Given the description of an element on the screen output the (x, y) to click on. 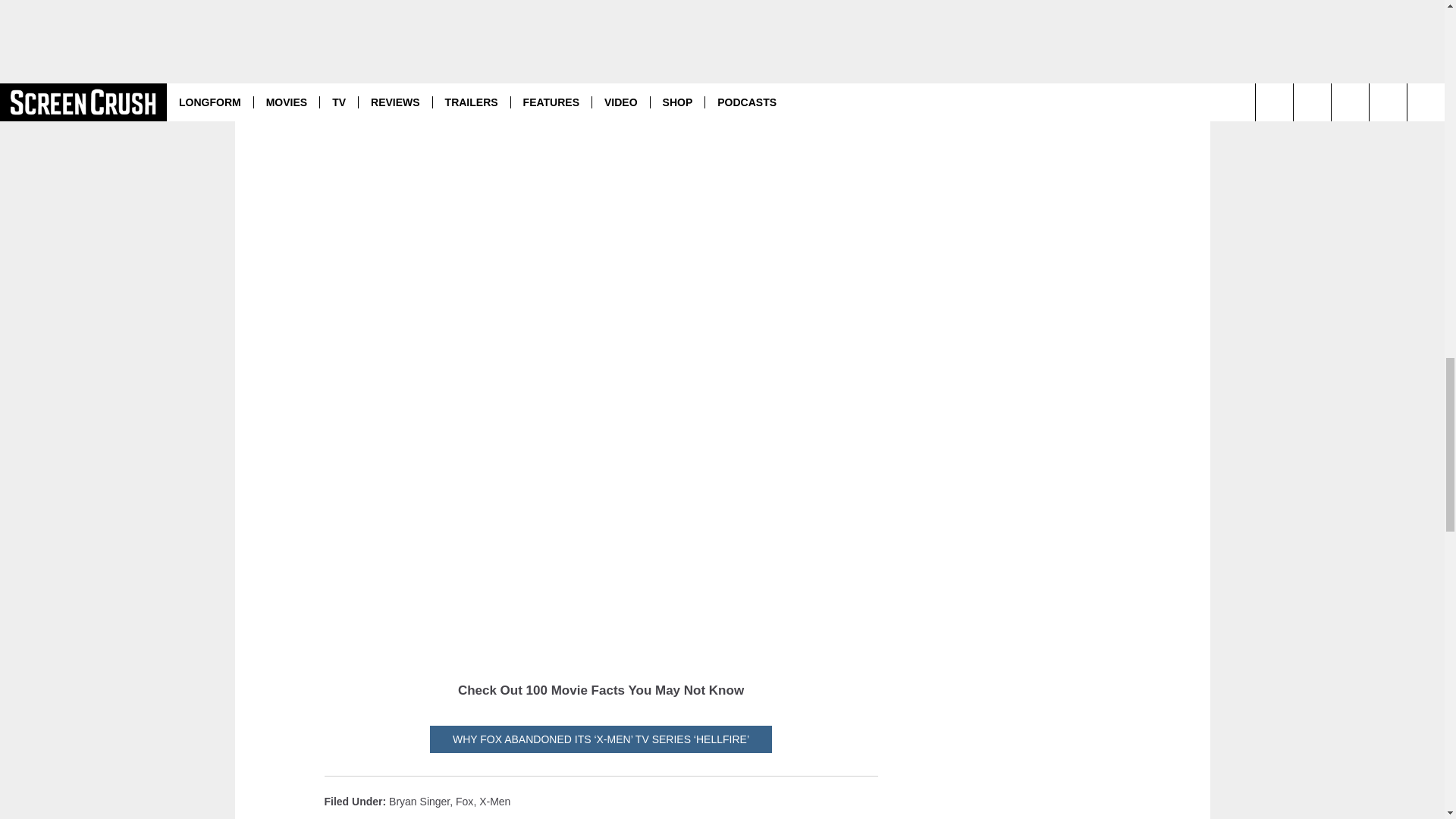
X-Men (495, 801)
Bryan Singer (418, 801)
Fox (464, 801)
